Given the description of an element on the screen output the (x, y) to click on. 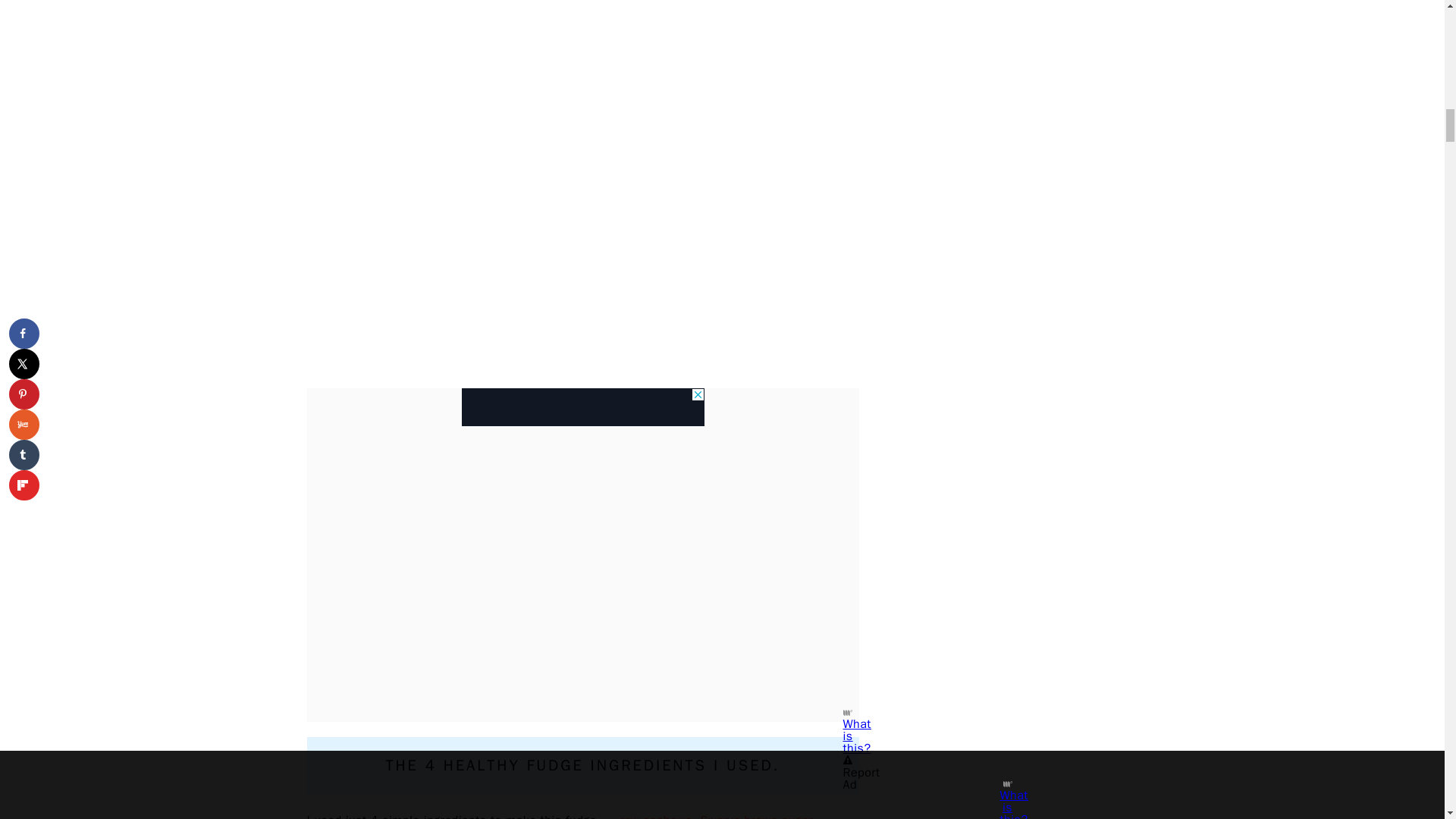
3rd party ad content (582, 406)
